Given the description of an element on the screen output the (x, y) to click on. 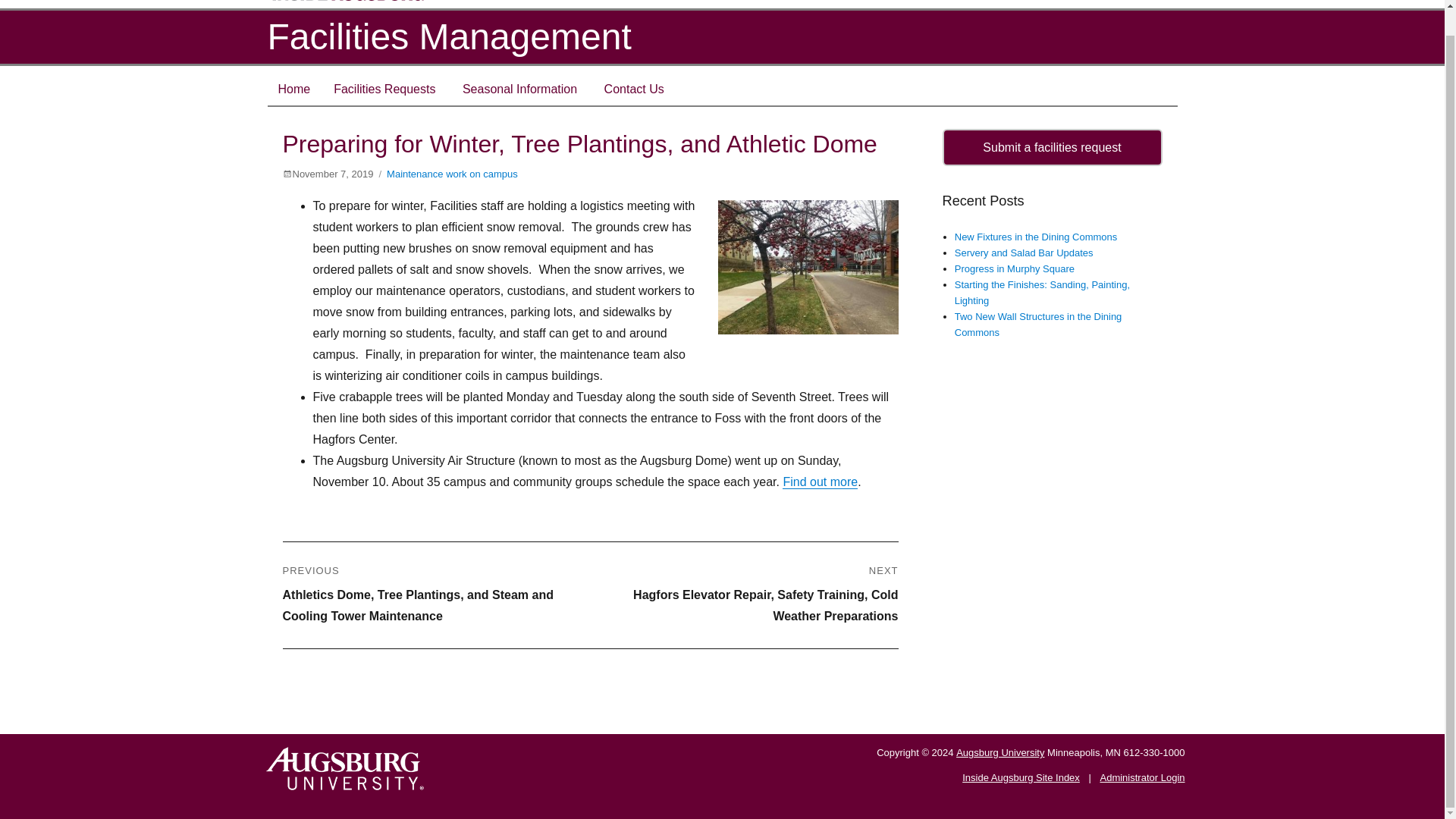
Inside Augsburg Site Index (1021, 777)
Home (293, 89)
Maintenance work on campus (452, 173)
Facilities Management (448, 36)
Progress in Murphy Square (1014, 268)
Starting the Finishes: Sanding, Painting, Lighting (1042, 292)
Contact Us (634, 89)
Find out more (820, 481)
Administrator Login (1142, 777)
